Given the description of an element on the screen output the (x, y) to click on. 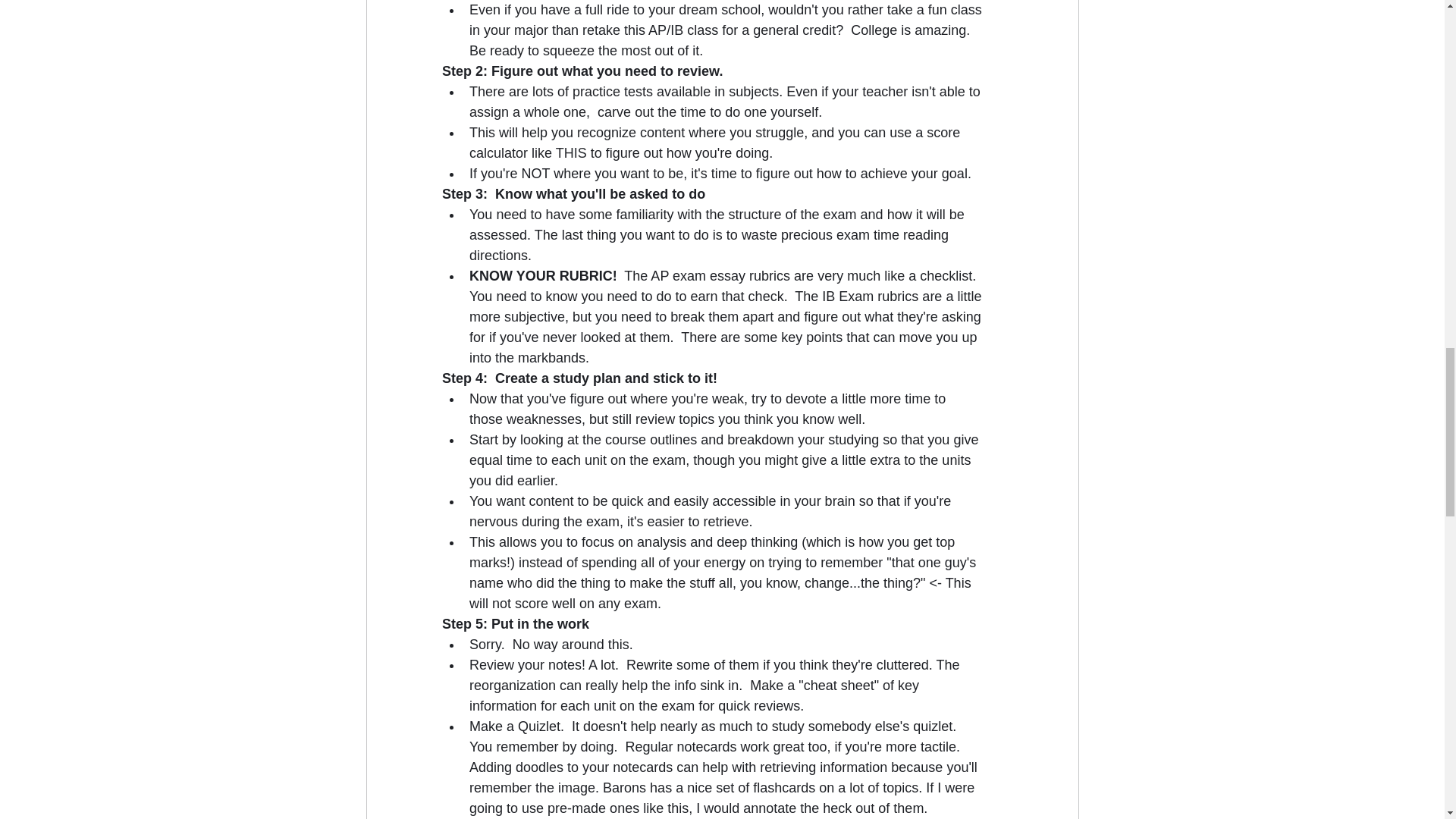
THIS (570, 152)
